Given the description of an element on the screen output the (x, y) to click on. 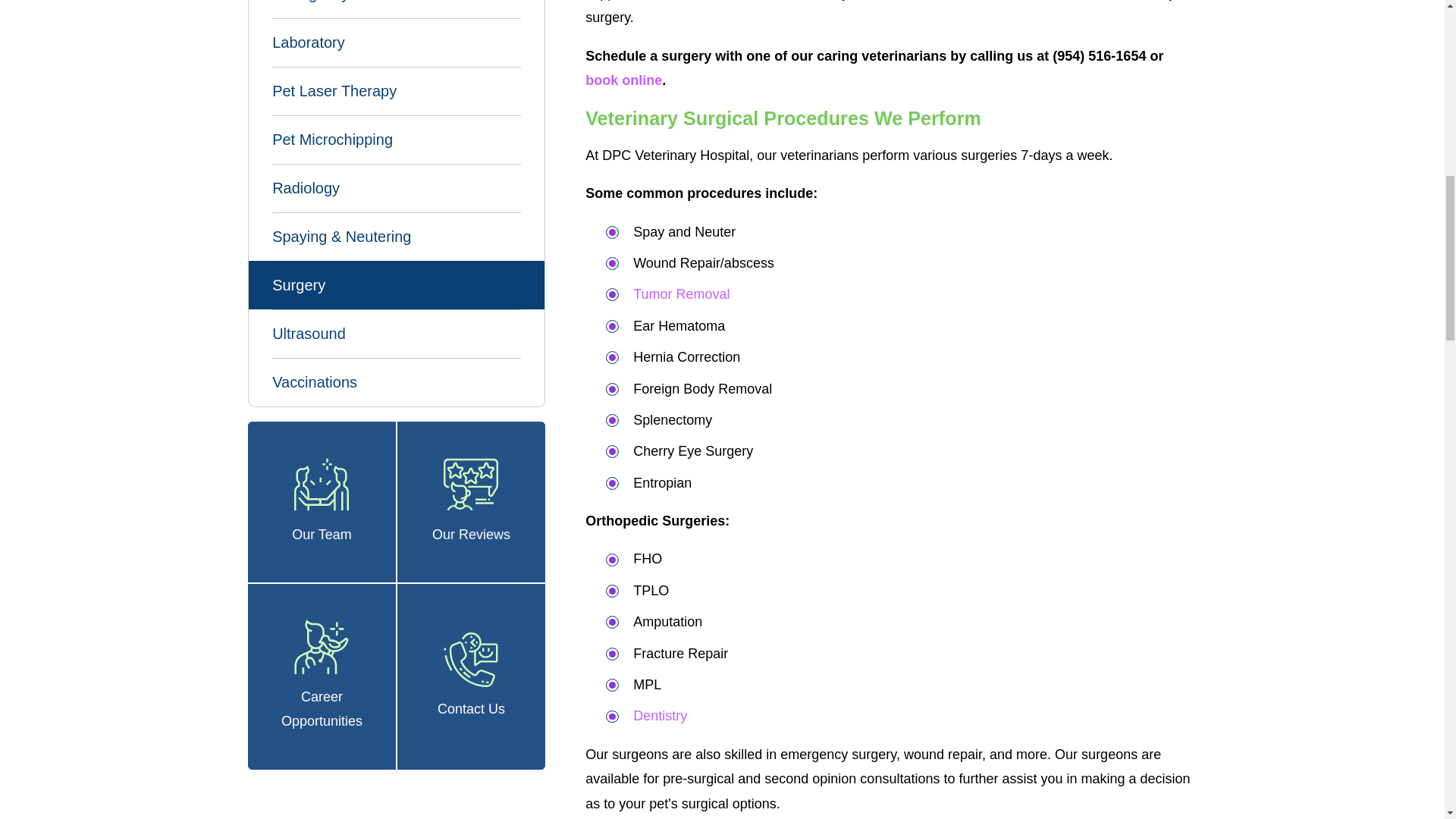
Our Team (321, 484)
Contact Us (470, 659)
Our Reviews (470, 484)
Career Opportunities (321, 646)
